Given the description of an element on the screen output the (x, y) to click on. 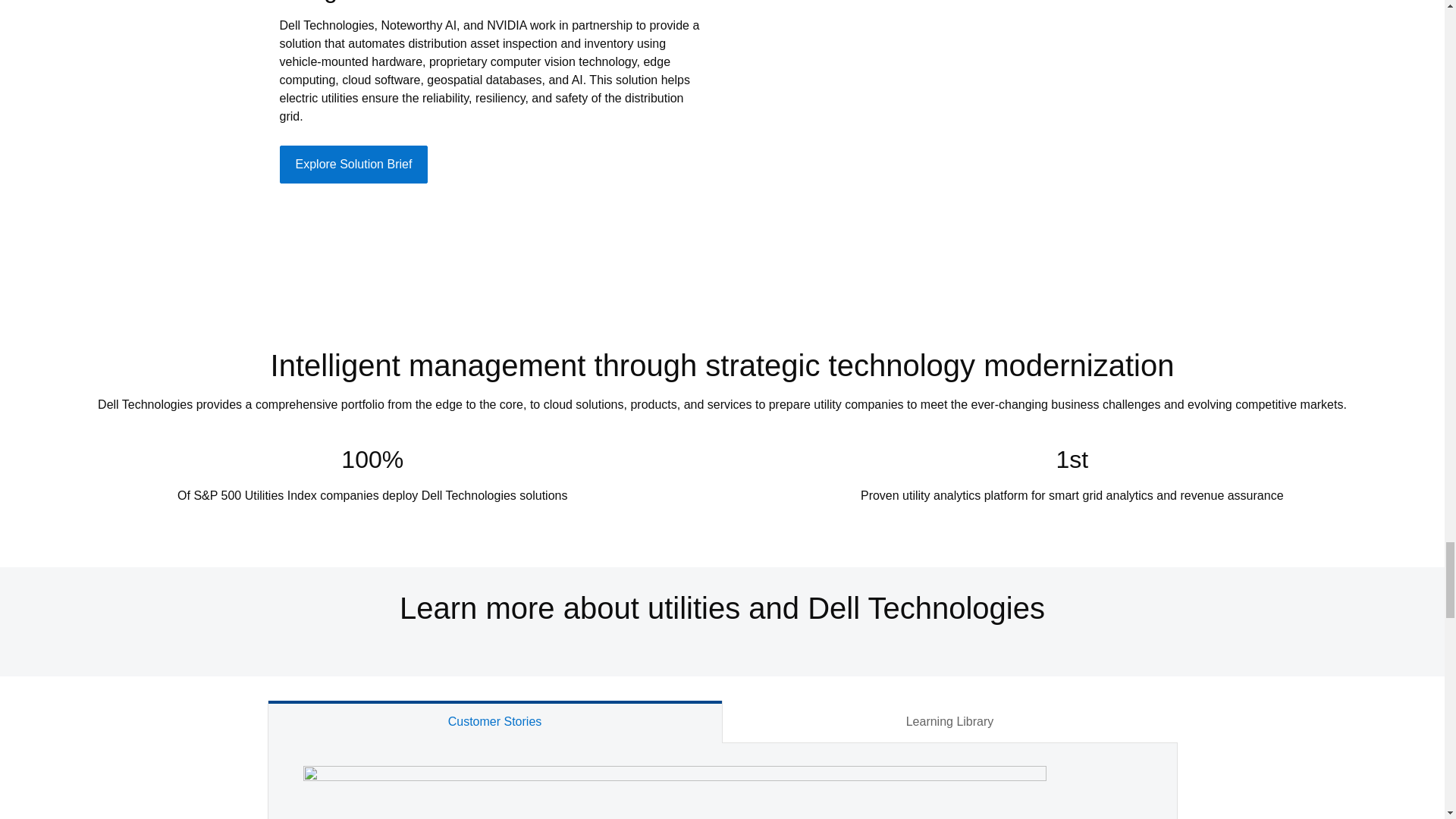
Customer Stories (494, 721)
Learning Library (949, 721)
